Given the description of an element on the screen output the (x, y) to click on. 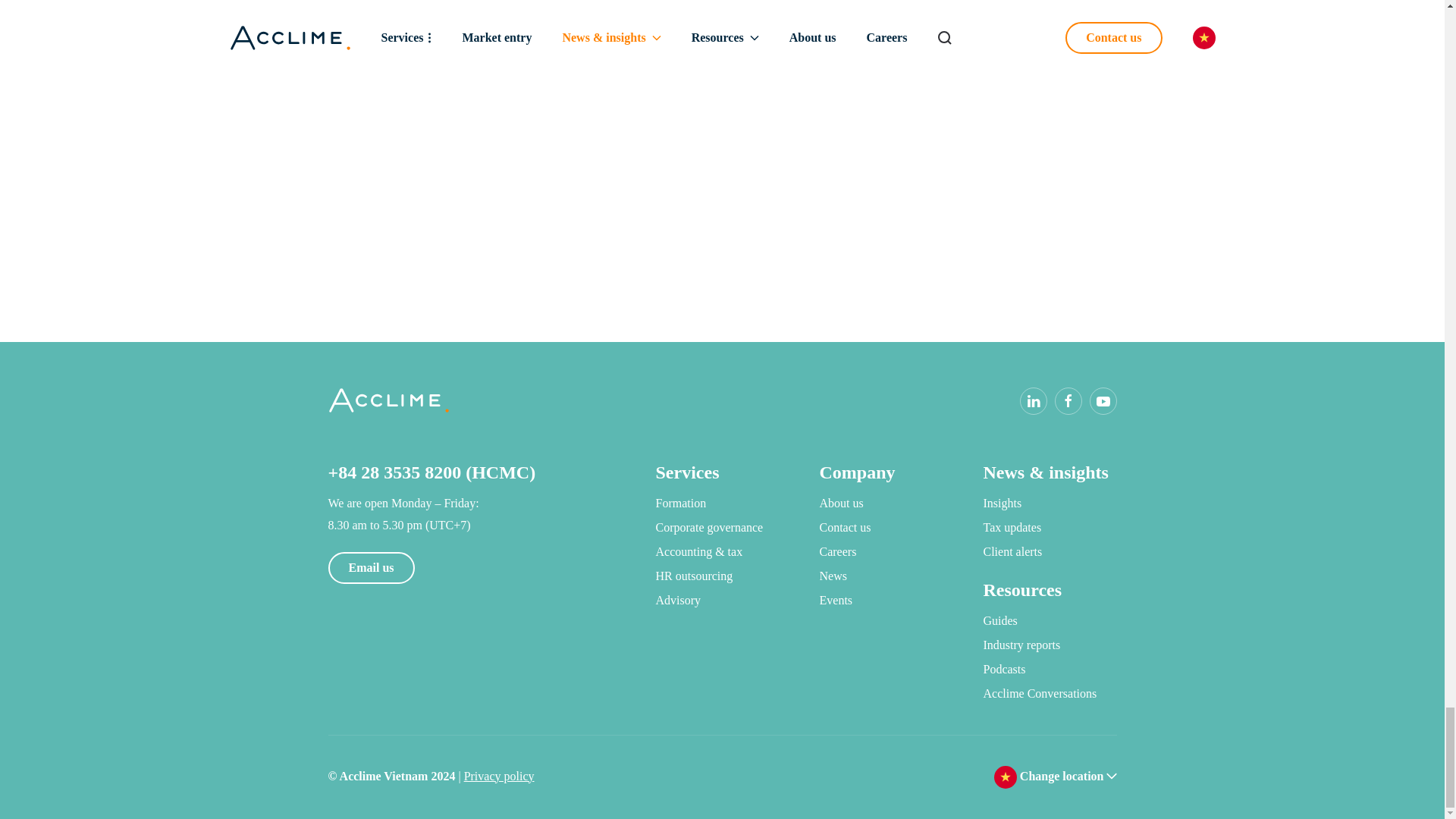
Artboard 1 copy 9 (1110, 776)
